Given the description of an element on the screen output the (x, y) to click on. 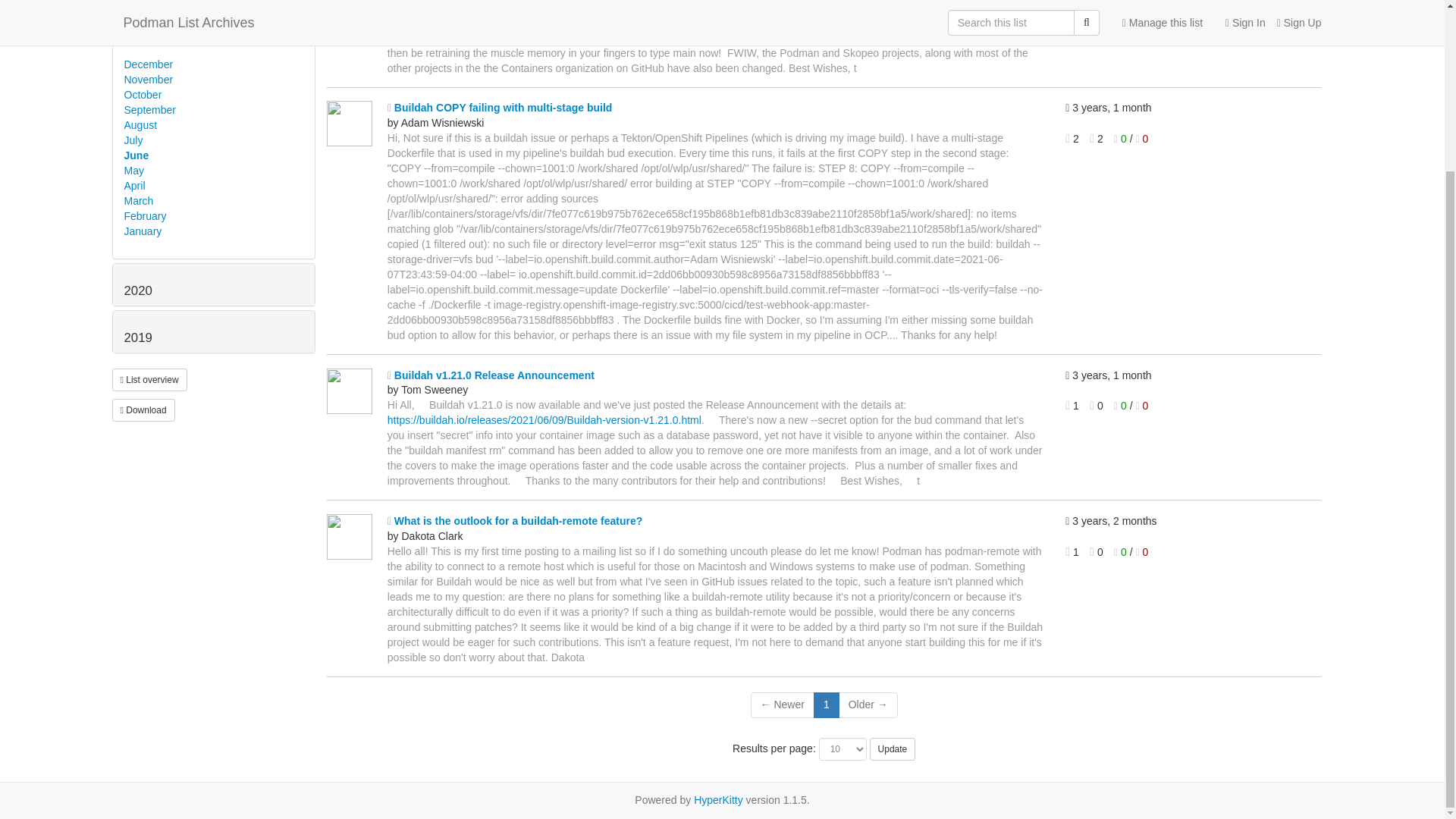
You must be logged-in to vote. (1141, 405)
You must be logged-in to vote. (1121, 138)
Update (892, 748)
This month in gzipped mbox format (143, 409)
Tuesday, 1 June 2021 17:19:53 (1180, 521)
You must be logged-in to vote. (1121, 8)
Monday, 28 June 2021 10:46:08 (1180, 108)
You must be logged-in to vote. (1141, 8)
You must be logged-in to vote. (1121, 405)
You must be logged-in to vote. (1141, 138)
Wednesday, 16 June 2021 18:51:49 (1180, 376)
